Given the description of an element on the screen output the (x, y) to click on. 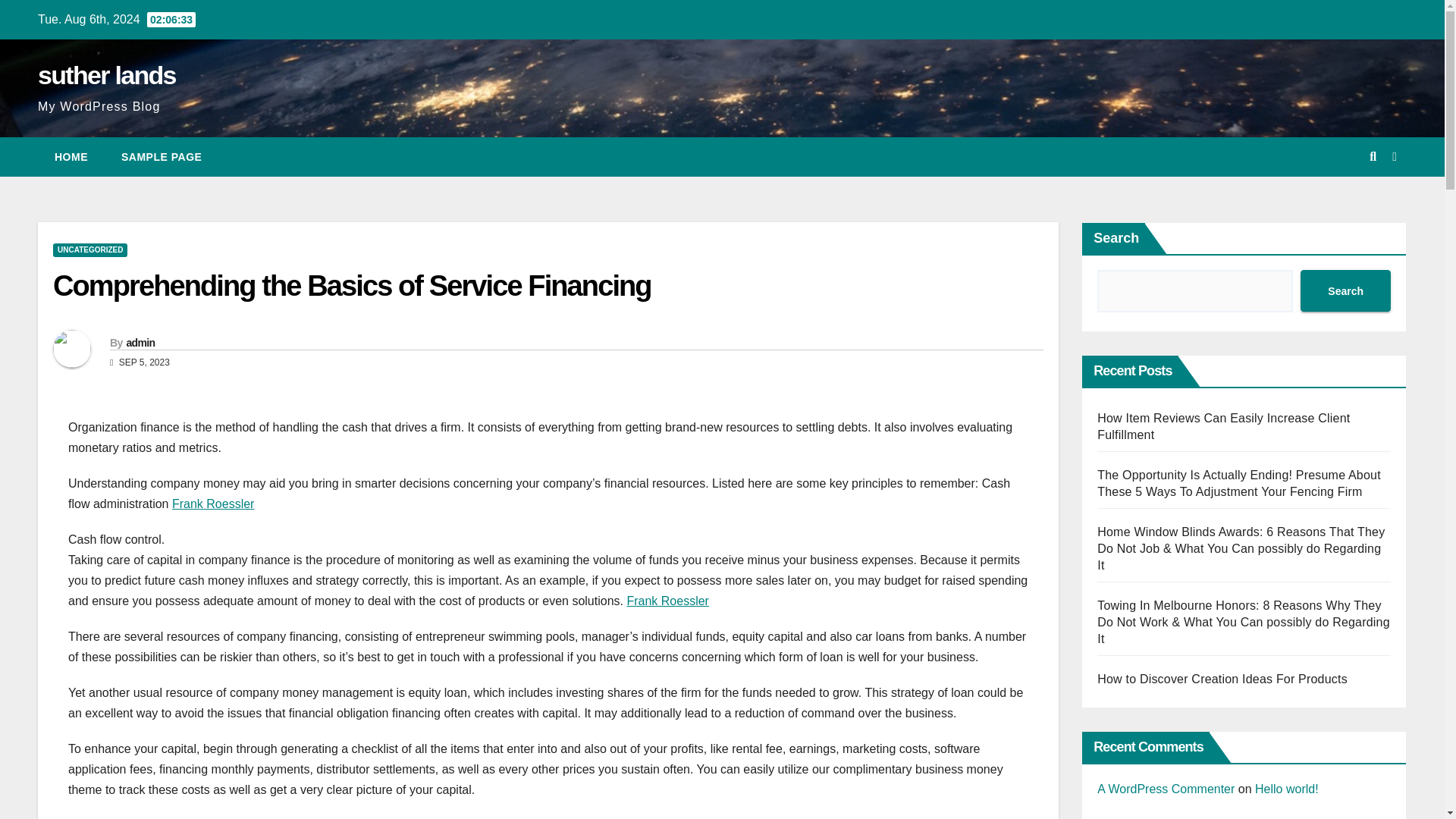
HOME (70, 156)
SAMPLE PAGE (161, 156)
Comprehending the Basics of Service Financing (351, 286)
Frank Roessler (212, 503)
UNCATEGORIZED (90, 250)
Permalink to: Comprehending the Basics of Service Financing (351, 286)
suther lands (106, 74)
Home (70, 156)
Frank Roessler (666, 600)
admin (139, 342)
